Given the description of an element on the screen output the (x, y) to click on. 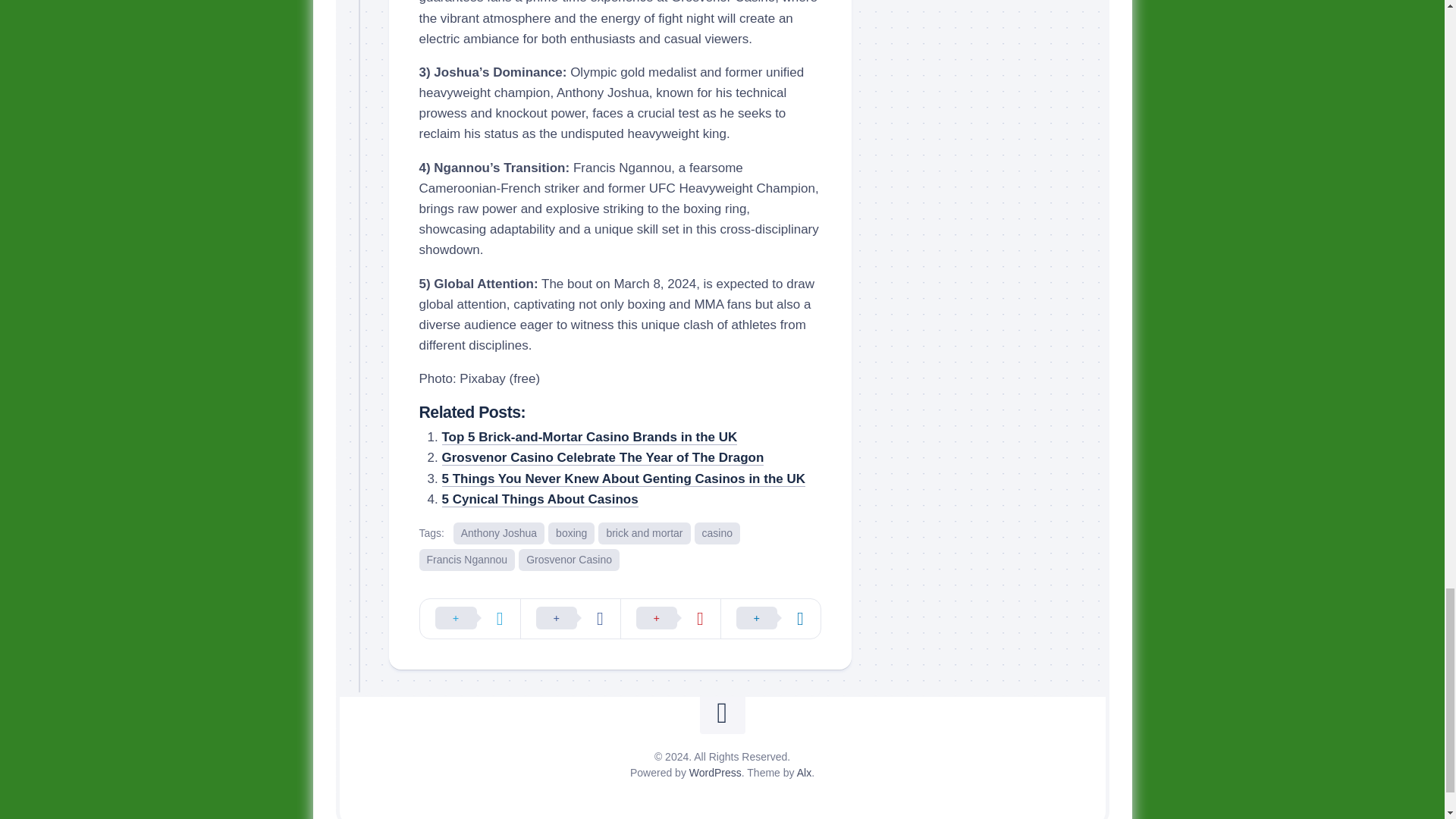
Top 5 Brick-and-Mortar Casino Brands in the UK (588, 436)
5 Cynical Things About Casinos (539, 499)
5 Things You Never Knew About Genting Casinos in the UK (623, 478)
Share on Pinterest (670, 618)
casino (716, 533)
Francis Ngannou (467, 559)
Top 5 Brick-and-Mortar Casino Brands in the UK (588, 436)
Grosvenor Casino Celebrate The Year of The Dragon (601, 457)
Share on Facebook (569, 618)
5 Things You Never Knew About Genting Casinos in the UK (623, 478)
5 Cynical Things About Casinos (539, 499)
Grosvenor Casino Celebrate The Year of The Dragon (601, 457)
Grosvenor Casino (569, 559)
Share on X (469, 618)
Share on LinkedIn (770, 618)
